Given the description of an element on the screen output the (x, y) to click on. 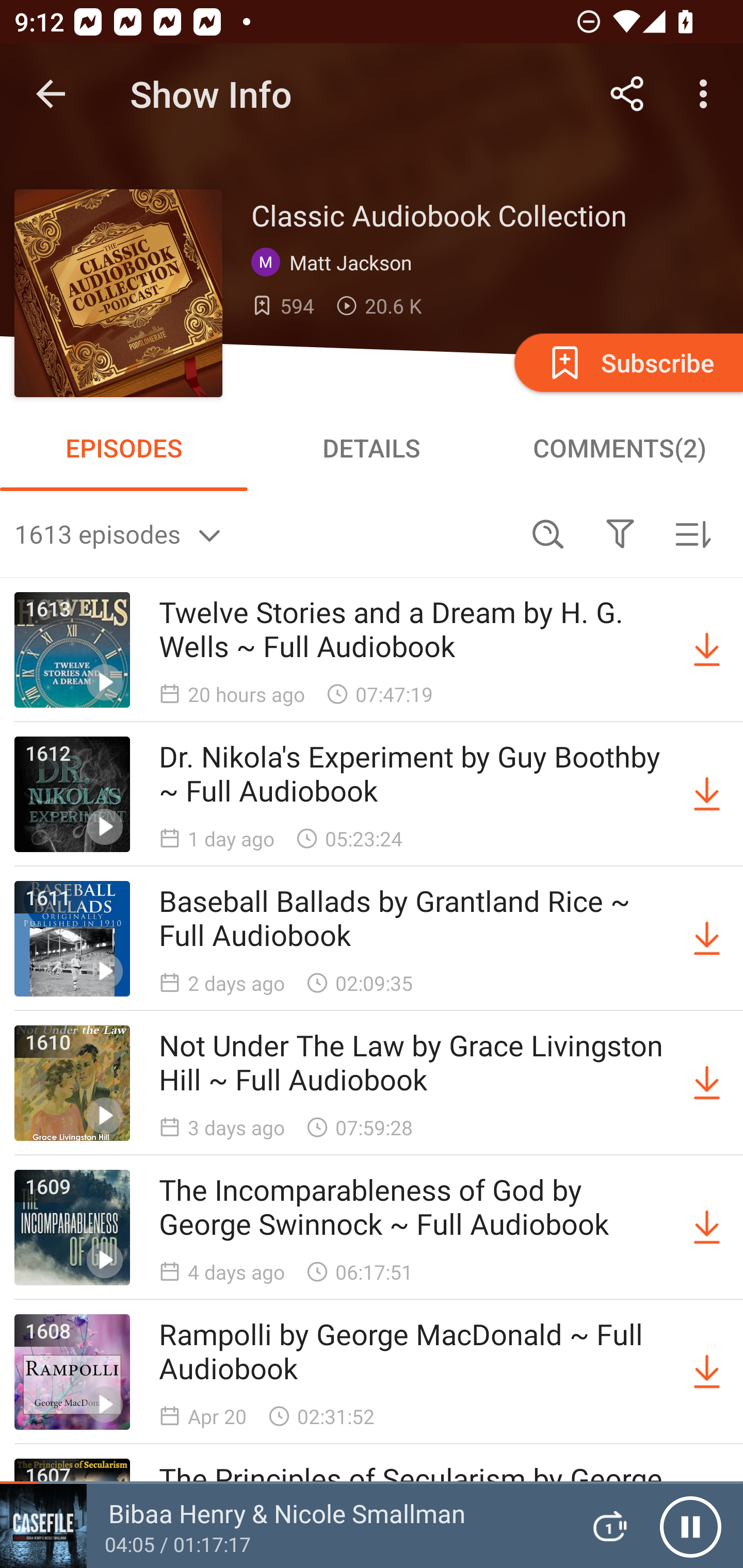
Navigate up (50, 93)
Share (626, 93)
More options (706, 93)
Matt Jackson (336, 262)
Subscribe (627, 361)
EPISODES (123, 447)
DETAILS (371, 447)
COMMENTS(2) (619, 447)
1613 episodes  (262, 533)
 Search (547, 533)
 (619, 533)
 Sorted by newest first (692, 533)
Download (706, 649)
Download (706, 793)
Download (706, 939)
Download (706, 1083)
Download (706, 1227)
Download (706, 1371)
Pause (690, 1526)
